Given the description of an element on the screen output the (x, y) to click on. 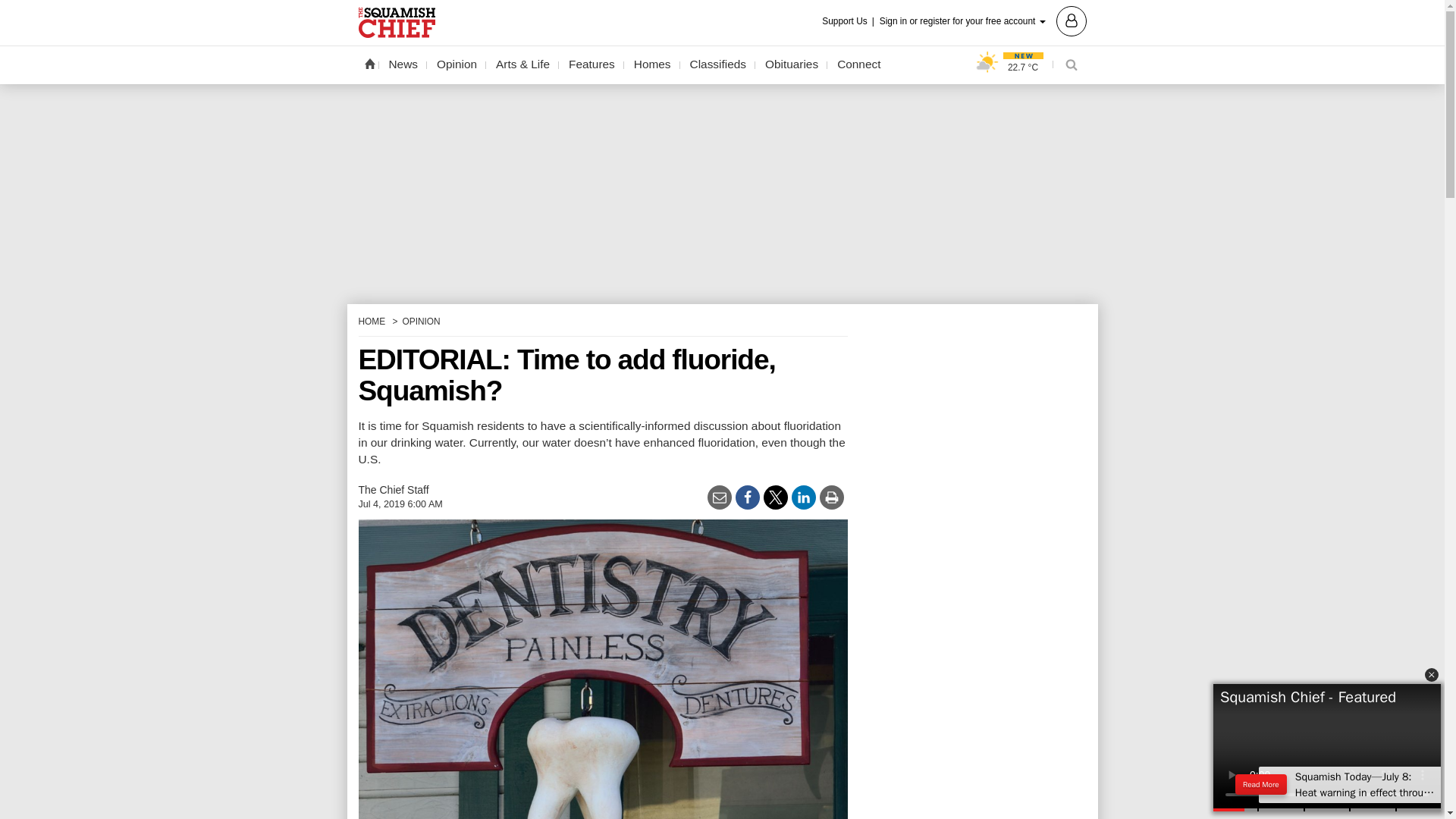
Support Us (849, 21)
Opinion (456, 64)
News (403, 64)
Home (368, 63)
Sign in or register for your free account (982, 20)
